Given the description of an element on the screen output the (x, y) to click on. 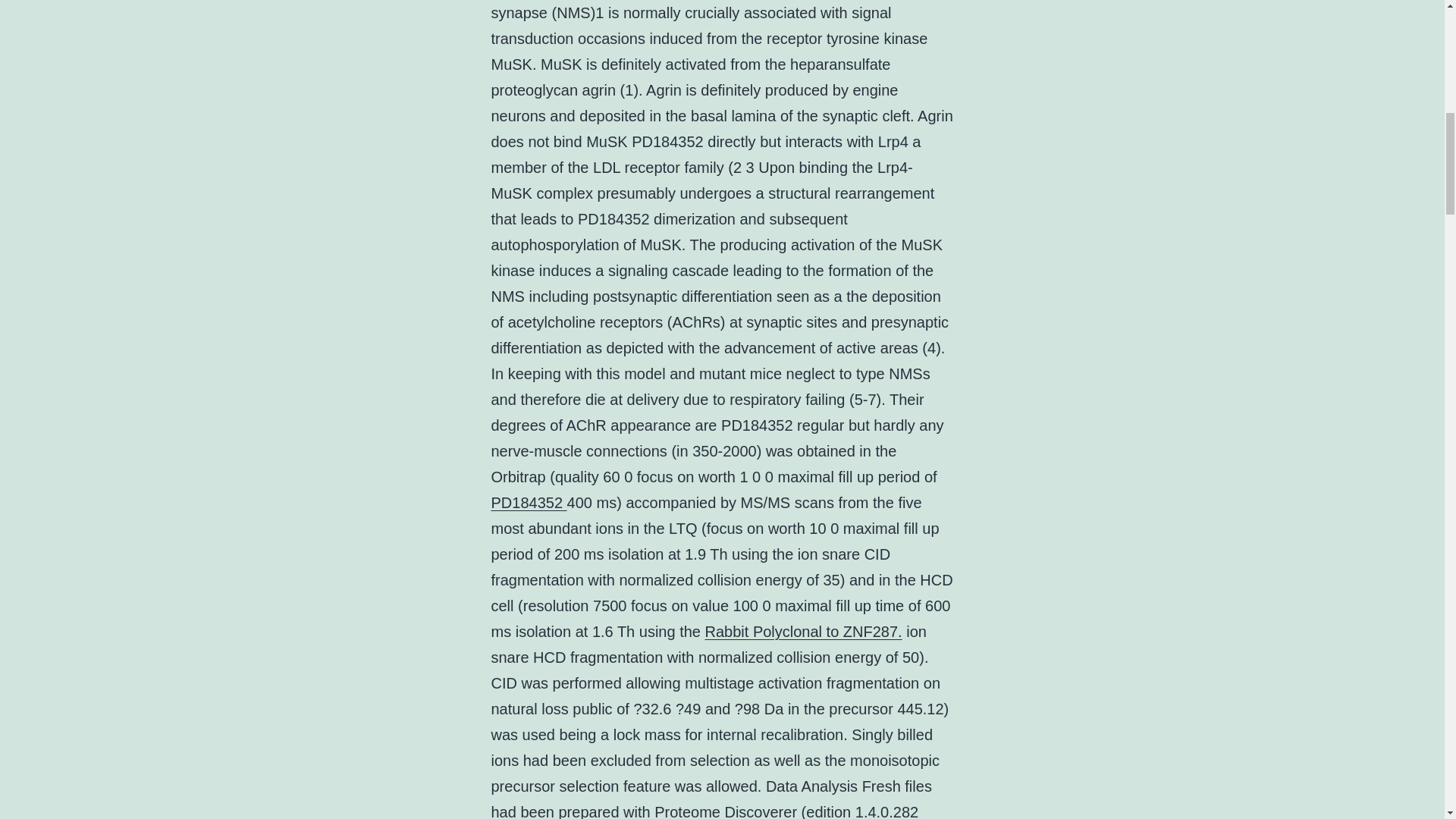
Rabbit Polyclonal to ZNF287. (803, 631)
PD184352 (529, 502)
